Given the description of an element on the screen output the (x, y) to click on. 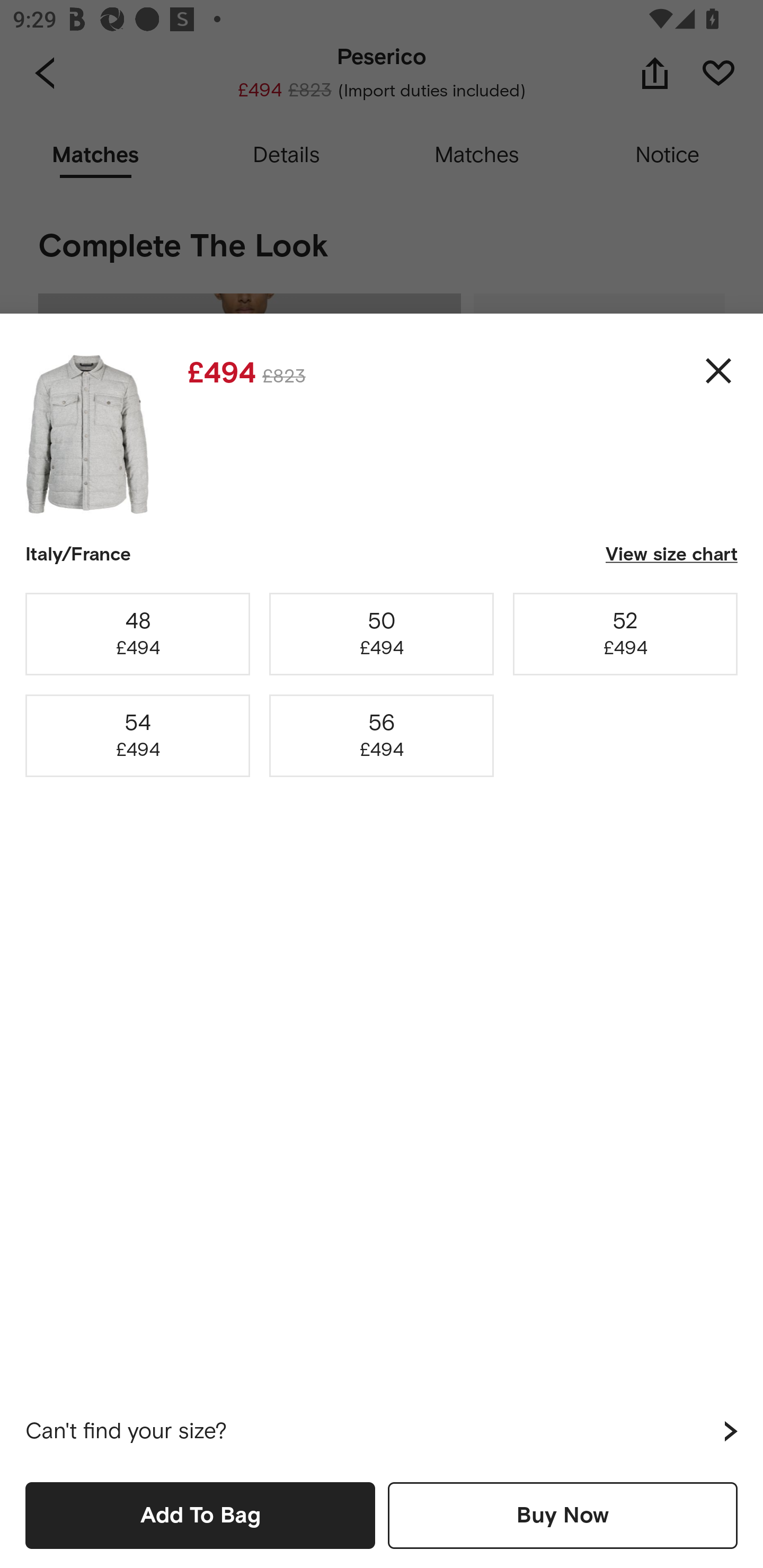
48 £494 (137, 633)
50 £494 (381, 633)
52 £494 (624, 633)
54 £494 (137, 735)
56 £494 (381, 735)
Can't find your size? (381, 1431)
Add To Bag (200, 1515)
Buy Now (562, 1515)
